Given the description of an element on the screen output the (x, y) to click on. 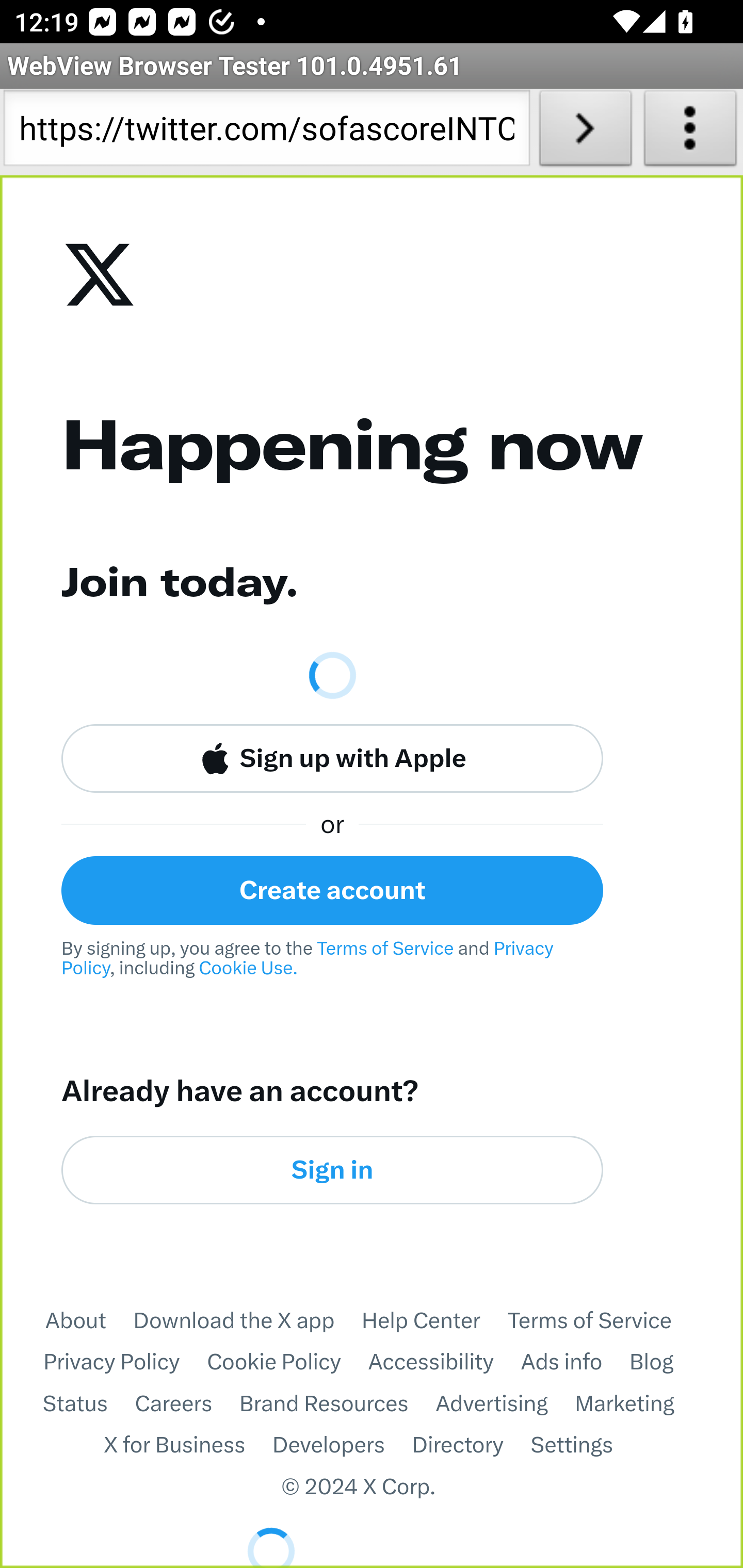
https://twitter.com/sofascoreINTCeltics (266, 132)
Load URL (585, 132)
About WebView (690, 132)
Sign up with Apple (332, 759)
Create account (332, 890)
Privacy Policy (309, 958)
Terms of Service (384, 948)
Cookie Use. (247, 968)
Sign in (332, 1169)
About (88, 1320)
Download the X app (246, 1320)
Help Center (434, 1320)
Terms of Service (602, 1320)
Privacy Policy (125, 1363)
Cookie Policy (287, 1363)
Accessibility (443, 1363)
Ads info (575, 1363)
Blog (665, 1363)
Status (88, 1404)
Careers (186, 1404)
Brand Resources (337, 1404)
Advertising (504, 1404)
Marketing (638, 1404)
X for Business (188, 1446)
Developers (342, 1446)
Directory (471, 1446)
Settings (584, 1446)
